Given the description of an element on the screen output the (x, y) to click on. 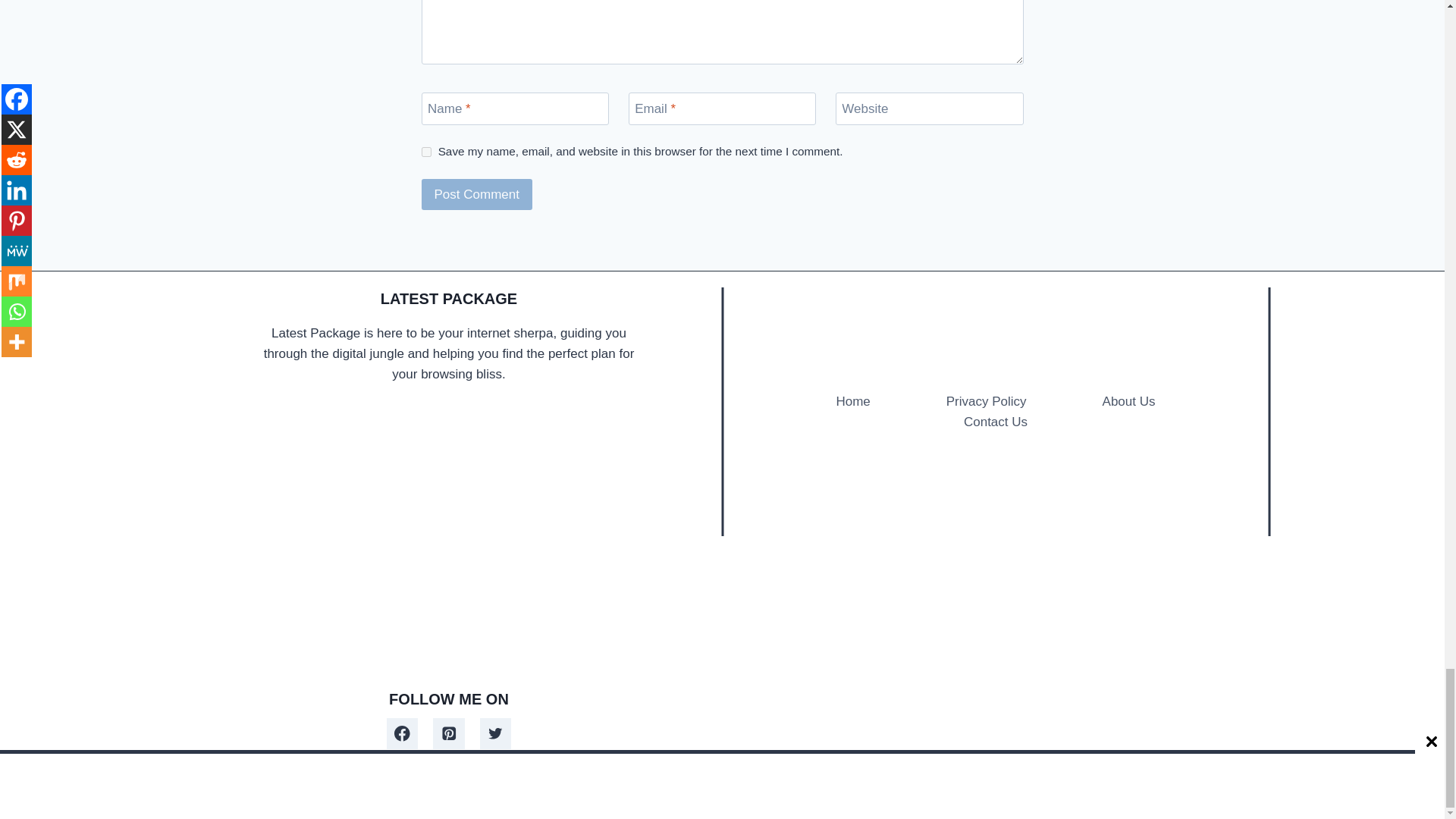
Post Comment (477, 194)
yes (426, 152)
